Given the description of an element on the screen output the (x, y) to click on. 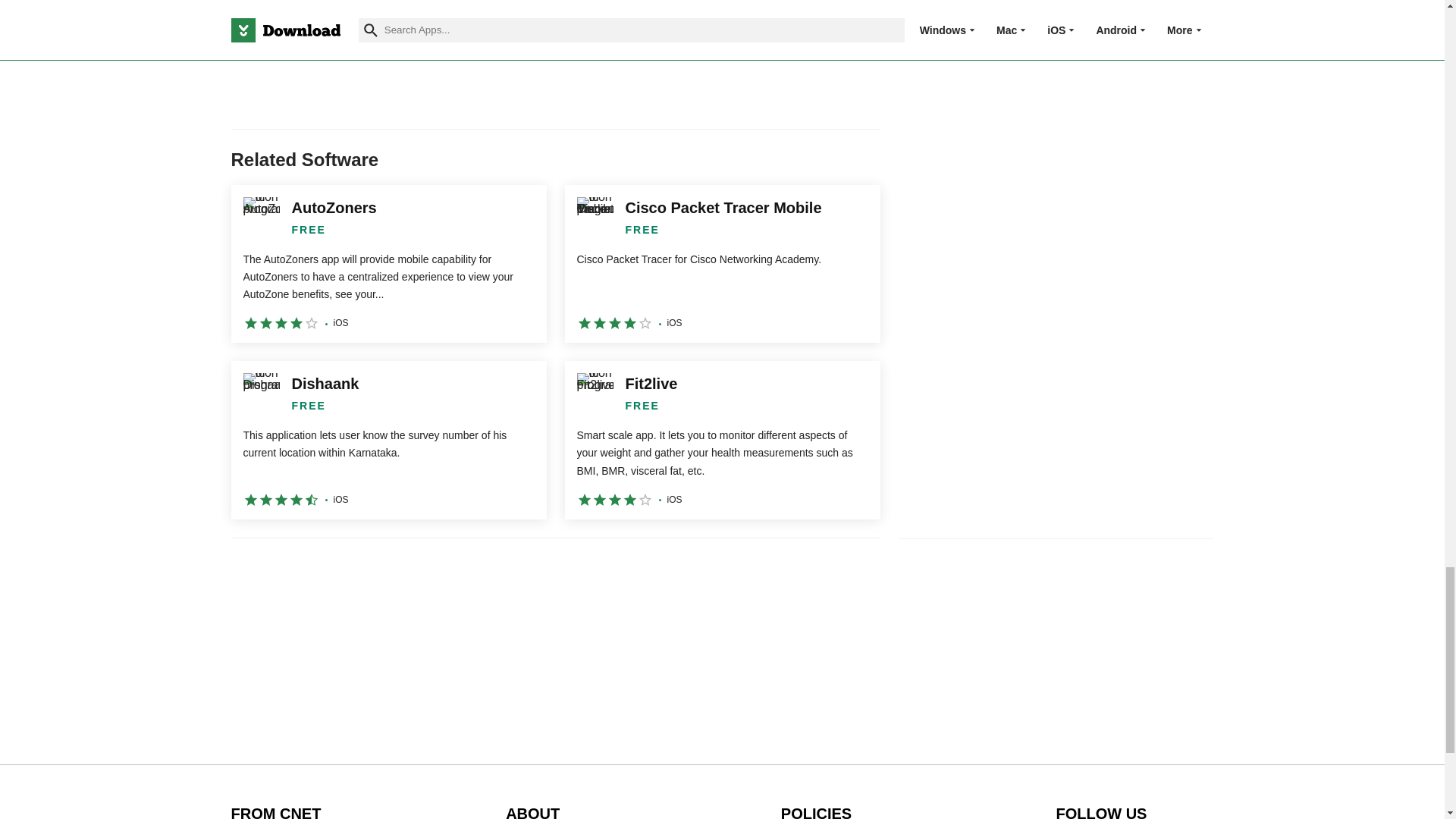
Cisco Packet Tracer Mobile (721, 264)
AutoZoners (388, 264)
Fit2live (721, 439)
Dishaank (388, 439)
